Given the description of an element on the screen output the (x, y) to click on. 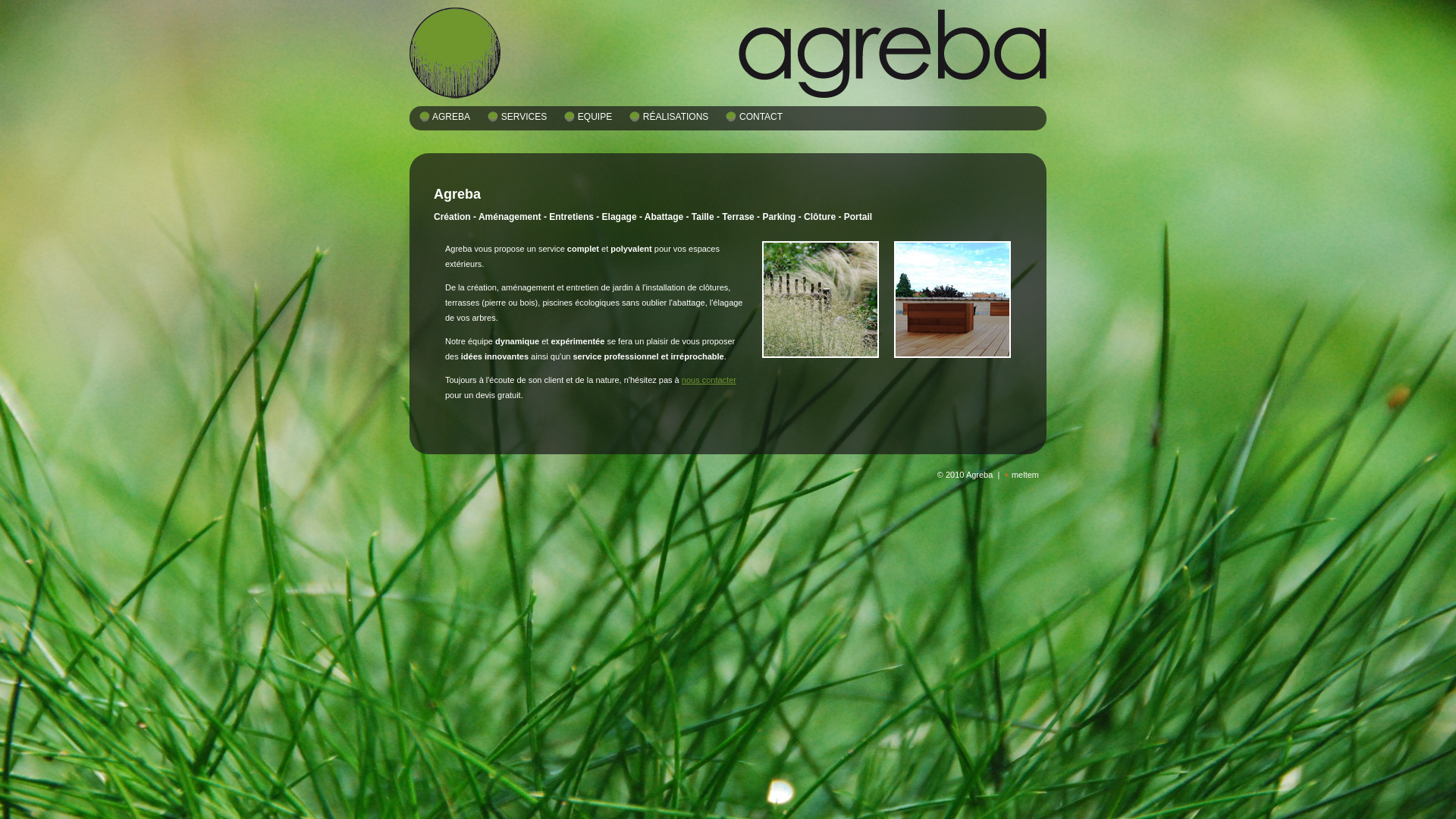
+ meltem Element type: text (1021, 474)
Agreba Element type: hover (952, 354)
  SERVICES Element type: text (523, 116)
Agreba Element type: hover (820, 354)
nous contacter Element type: text (708, 379)
  EQUIPE Element type: text (594, 116)
  CONTACT Element type: text (760, 116)
  AGREBA Element type: text (451, 116)
